Given the description of an element on the screen output the (x, y) to click on. 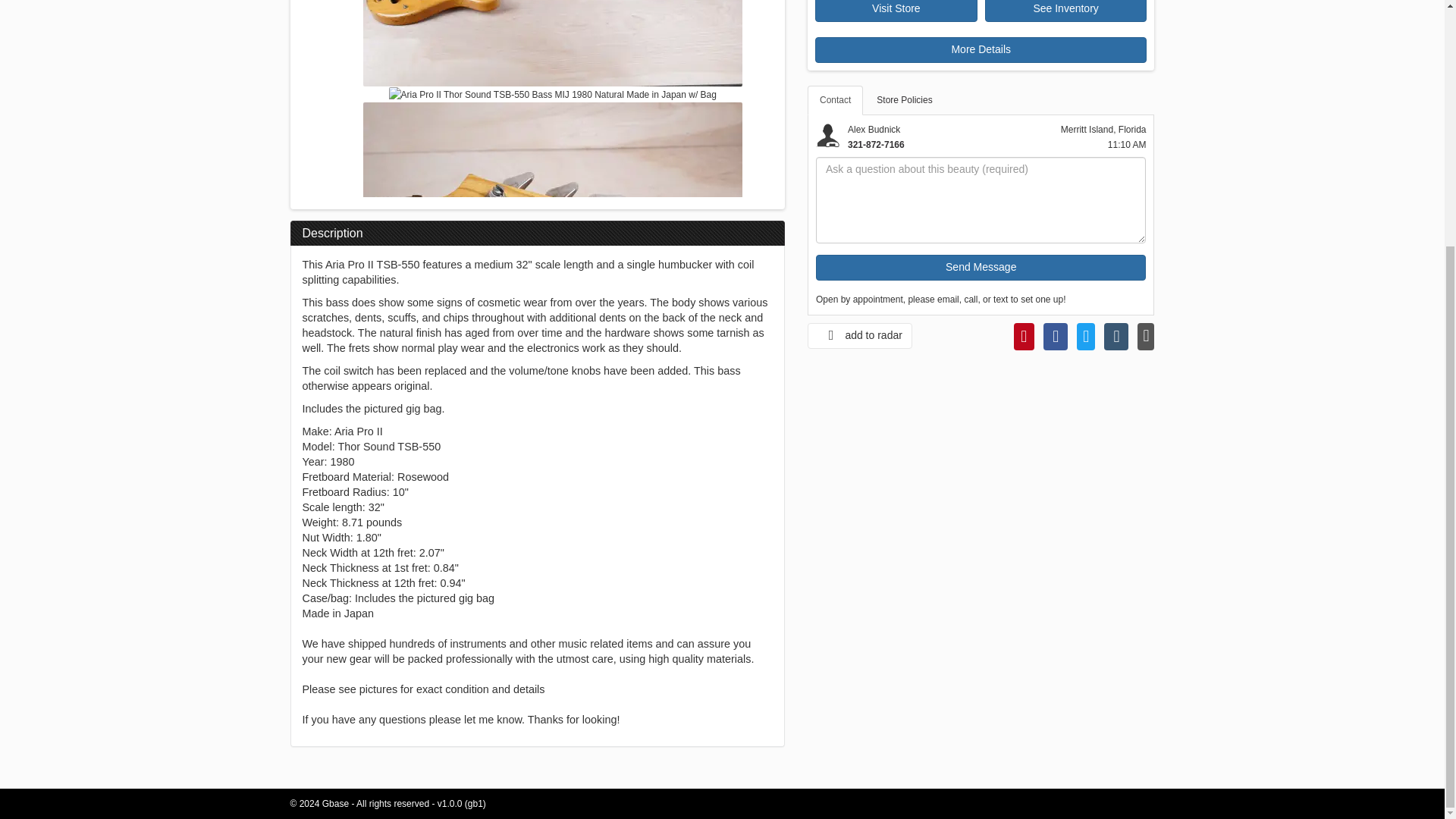
Visit Store (895, 11)
Send Message (981, 267)
Store Policies (903, 100)
321-872-7166 (875, 144)
Contact (835, 100)
Send Message (981, 267)
More Details (981, 49)
See Inventory (1066, 11)
add to radar (860, 335)
